Given the description of an element on the screen output the (x, y) to click on. 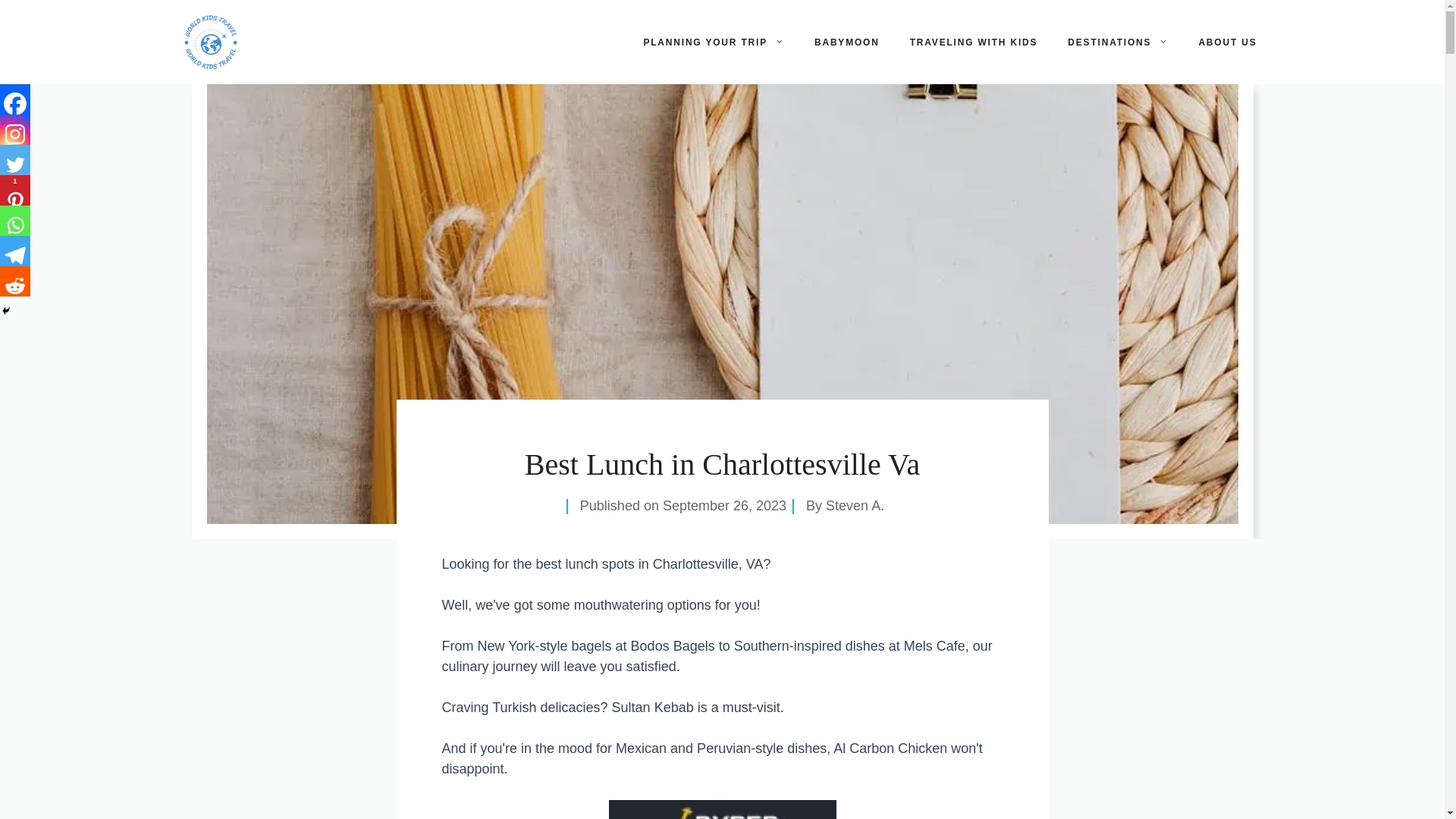
TRAVELING WITH KIDS (973, 42)
Facebook (15, 99)
Pinterest (15, 190)
Twitter (15, 159)
Reddit (15, 281)
Steven A. (854, 505)
PLANNING YOUR TRIP (713, 42)
Hide (5, 310)
DESTINATIONS (1117, 42)
ABOUT US (1226, 42)
